Given the description of an element on the screen output the (x, y) to click on. 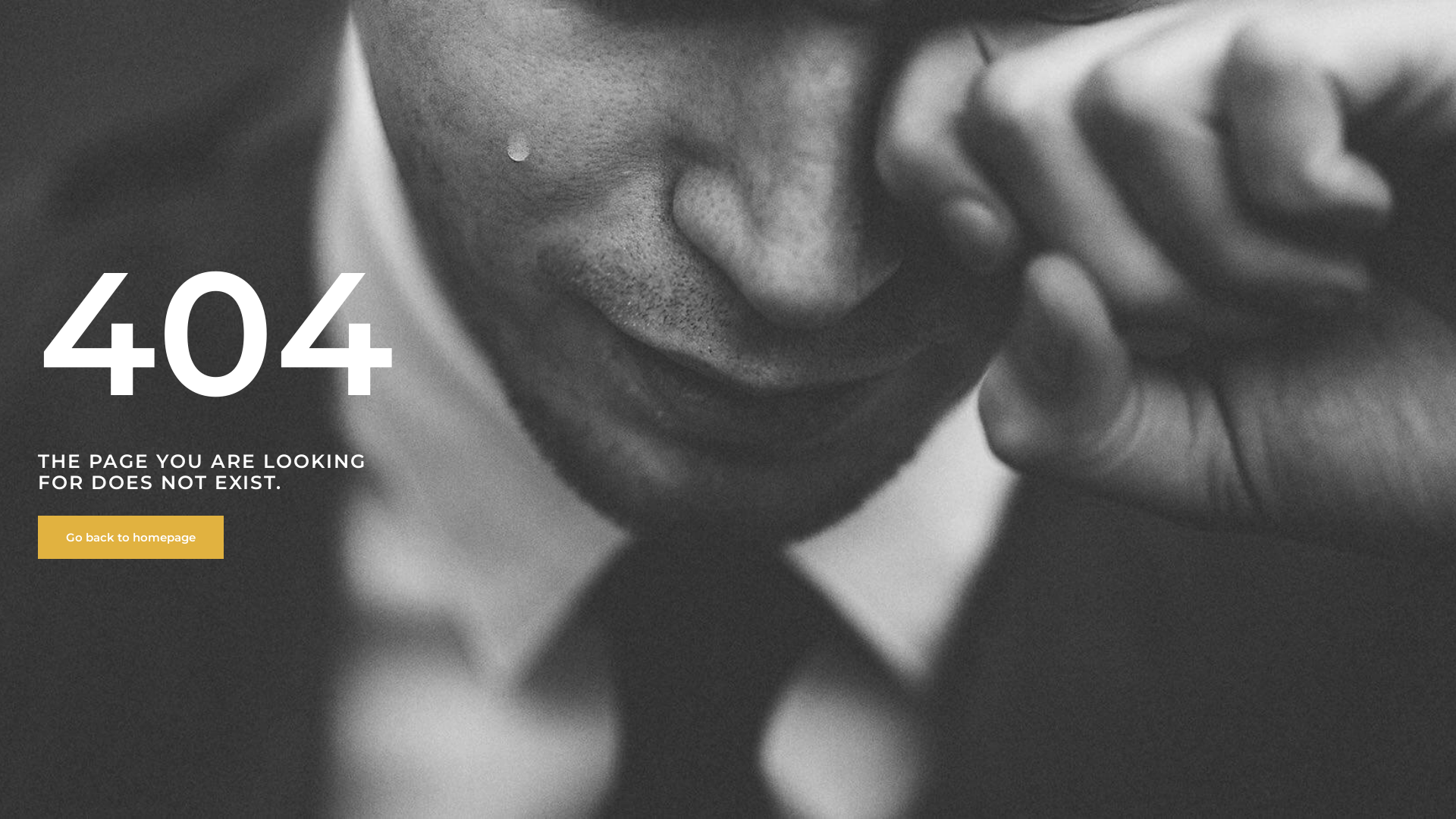
Go back to homepage Element type: text (130, 536)
